Given the description of an element on the screen output the (x, y) to click on. 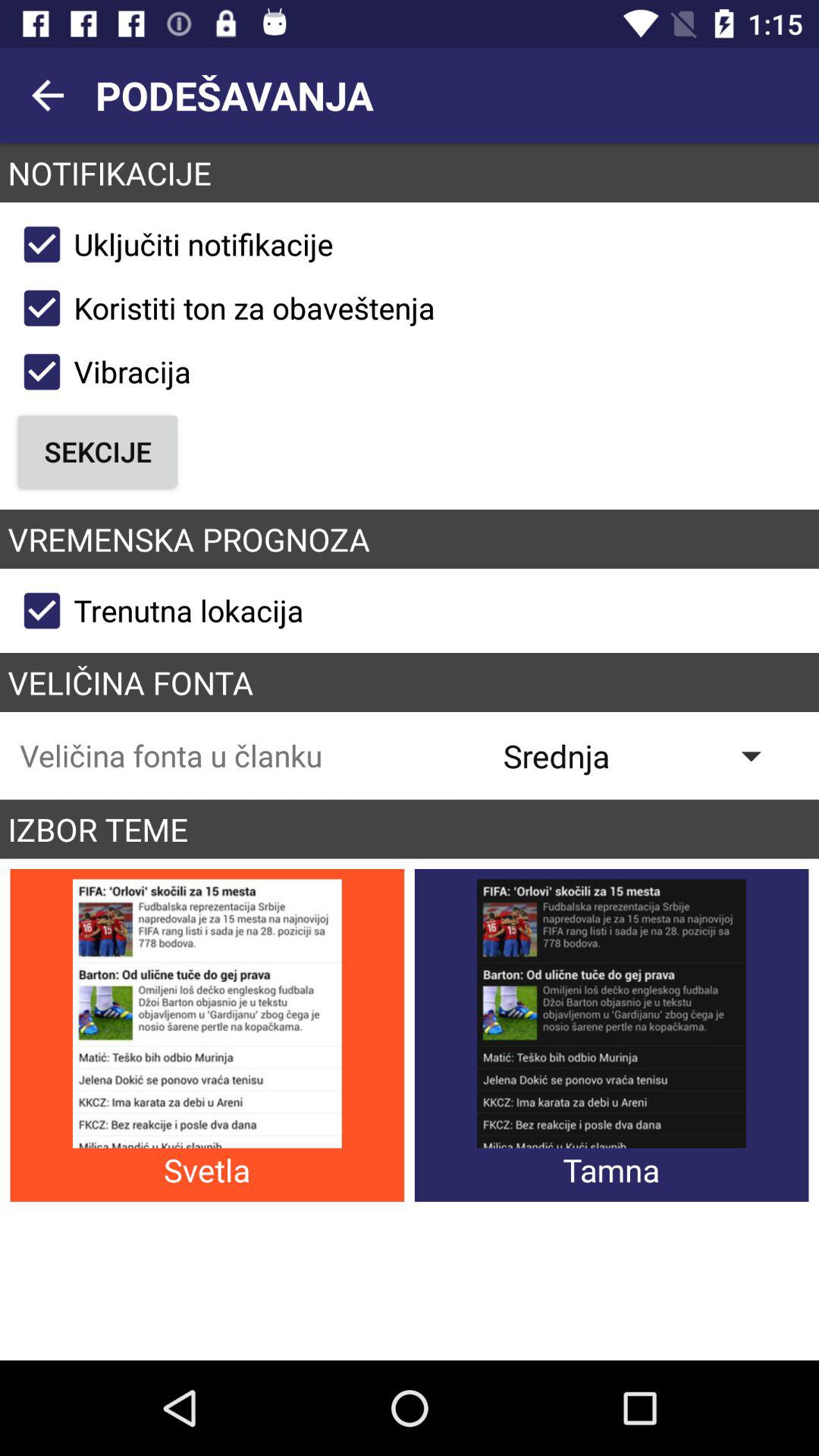
turn on icon above vibracija checkbox (222, 308)
